Given the description of an element on the screen output the (x, y) to click on. 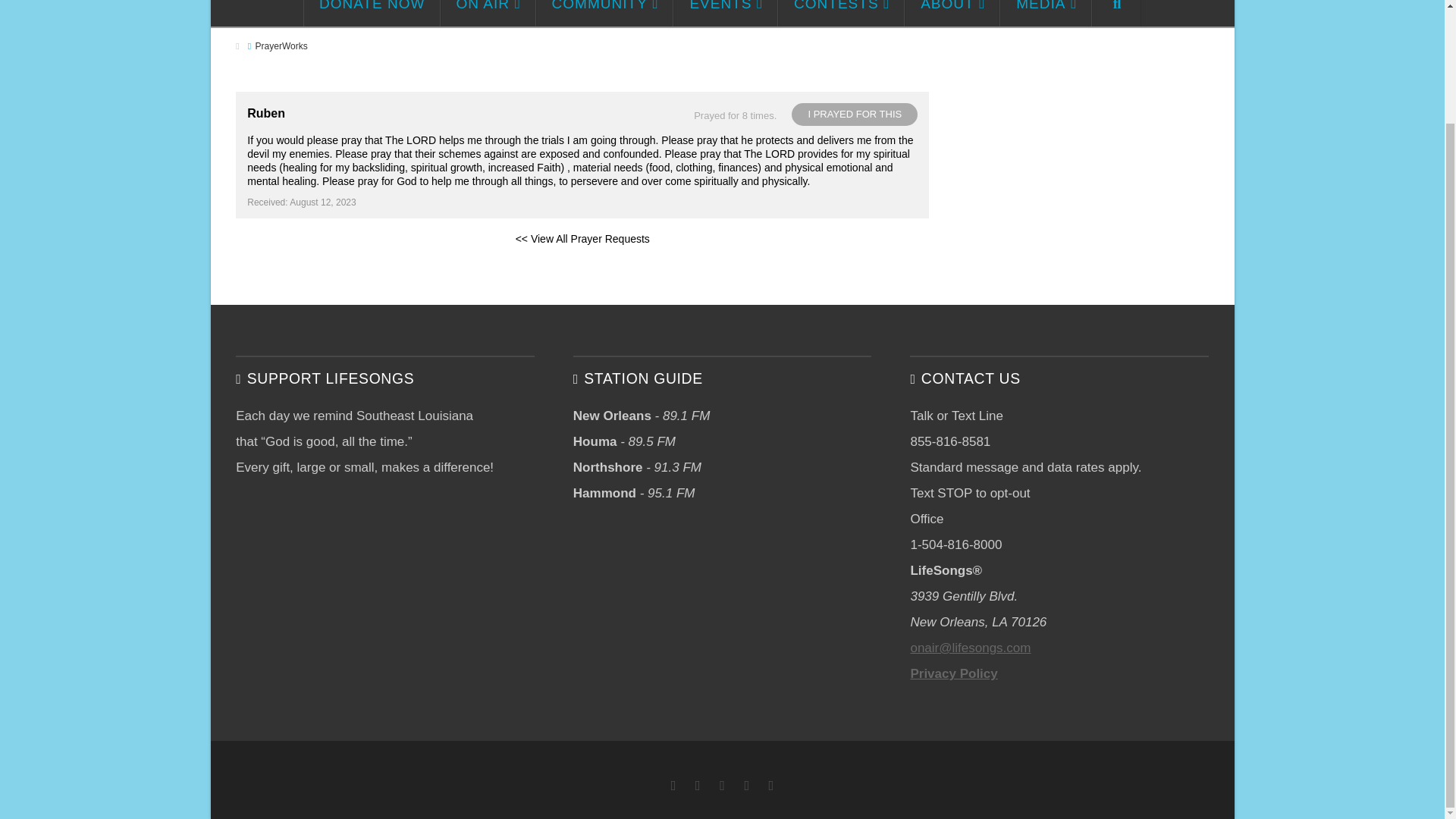
EVENTS (724, 13)
COMMUNITY (604, 13)
CONTESTS (840, 13)
DONATE NOW (371, 13)
You Are Here (281, 46)
ON AIR (488, 13)
MEDIA (1046, 13)
ABOUT (952, 13)
